Given the description of an element on the screen output the (x, y) to click on. 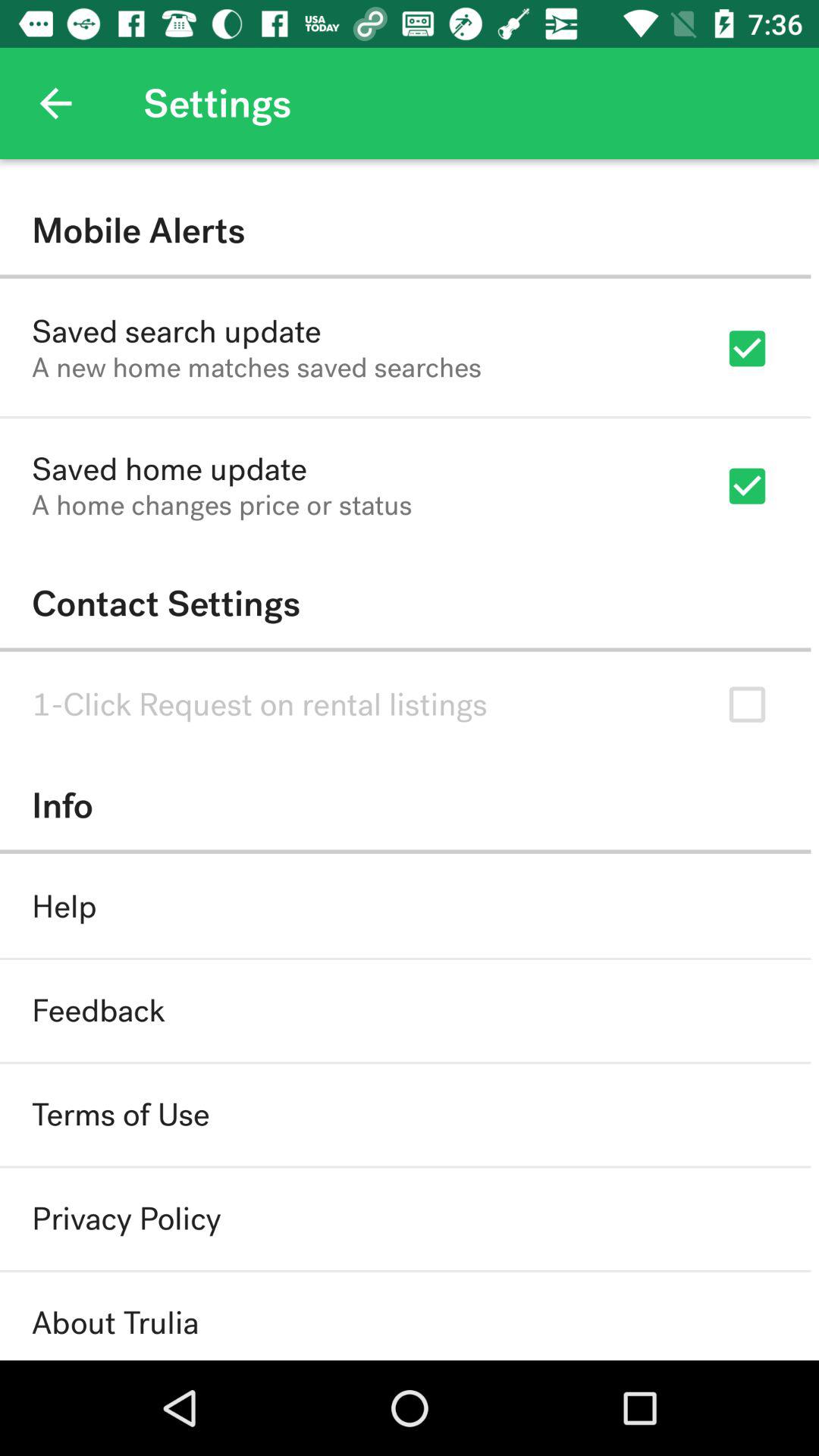
turn off item below contact settings item (259, 704)
